Given the description of an element on the screen output the (x, y) to click on. 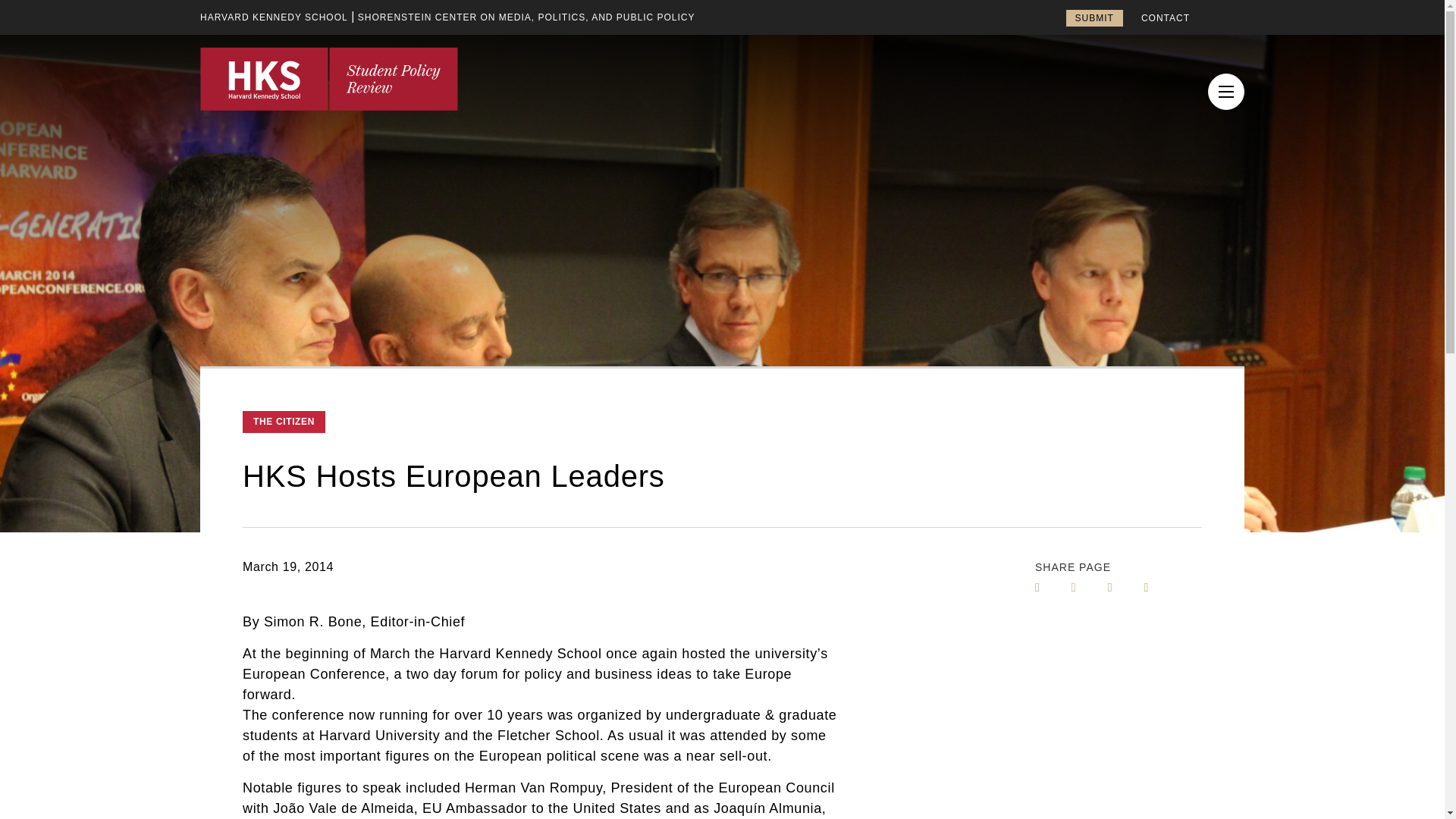
SHORENSTEIN CENTER ON MEDIA, POLITICS, AND PUBLIC POLICY (526, 17)
Shorenstein Center on Media, Politics, and Public Policy (526, 17)
HARVARD KENNEDY SCHOOL (273, 17)
Harvard Kennedy School (273, 17)
HKS Student Policy Review (329, 78)
SUBMIT (1093, 17)
CONTACT (1165, 18)
